Given the description of an element on the screen output the (x, y) to click on. 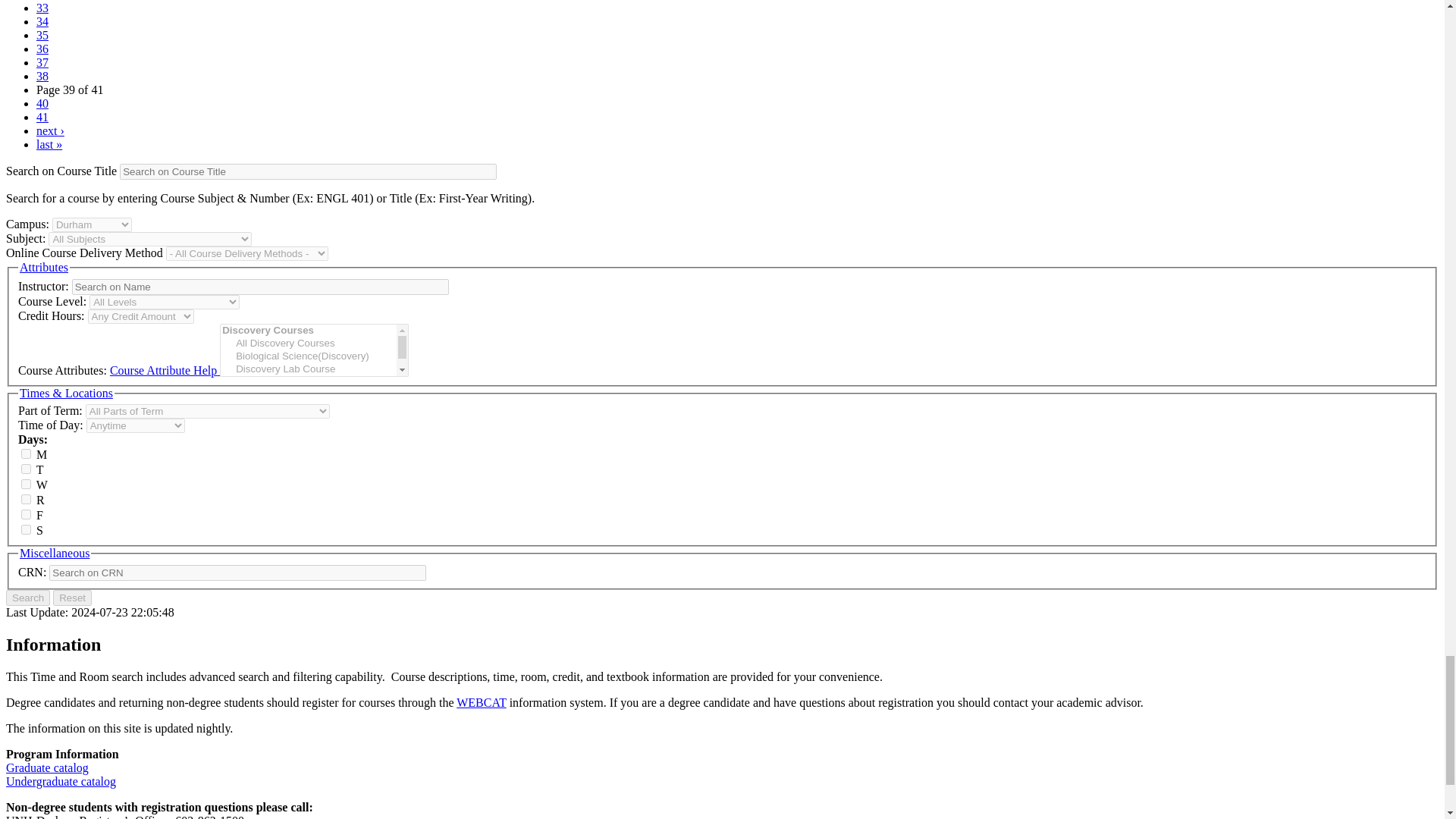
F (25, 514)
M (25, 453)
W (25, 483)
T (25, 469)
R (25, 499)
S (25, 529)
